Given the description of an element on the screen output the (x, y) to click on. 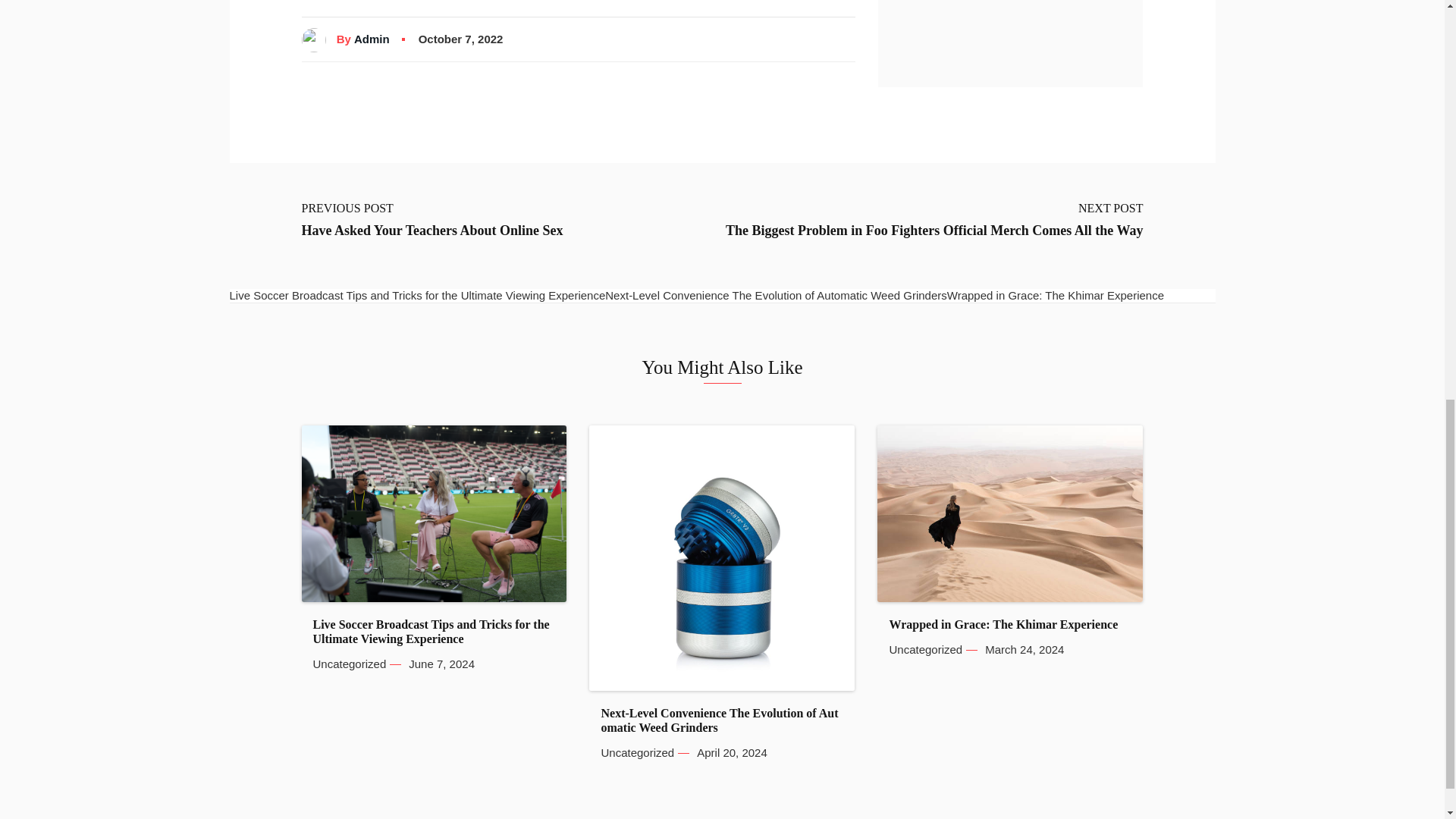
Uncategorized (349, 663)
June 7, 2024 (441, 663)
Admin (371, 39)
Have Asked Your Teachers About Online Sex (432, 230)
